Given the description of an element on the screen output the (x, y) to click on. 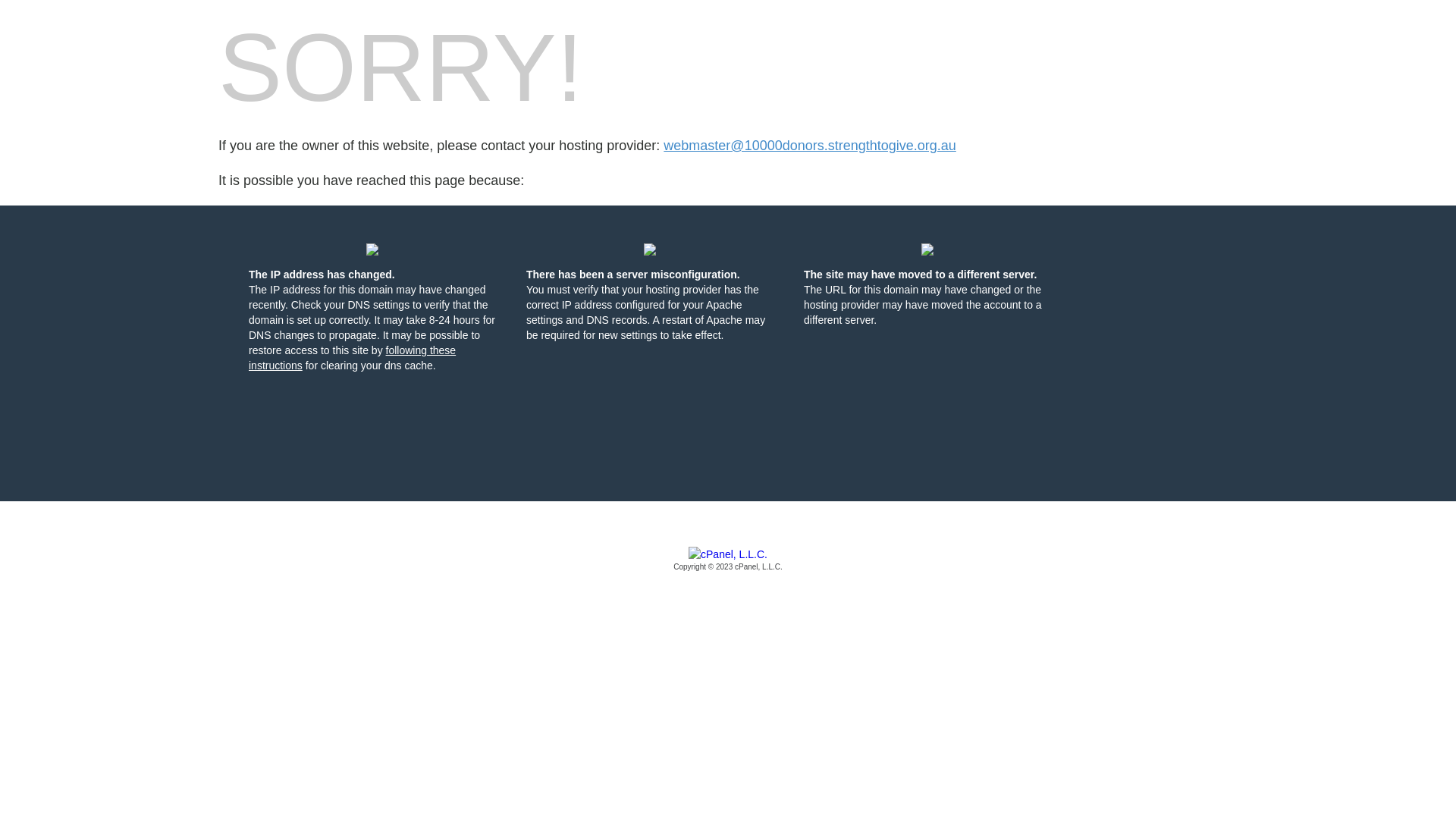
webmaster@10000donors.strengthtogive.org.au Element type: text (809, 145)
following these instructions Element type: text (351, 357)
